Given the description of an element on the screen output the (x, y) to click on. 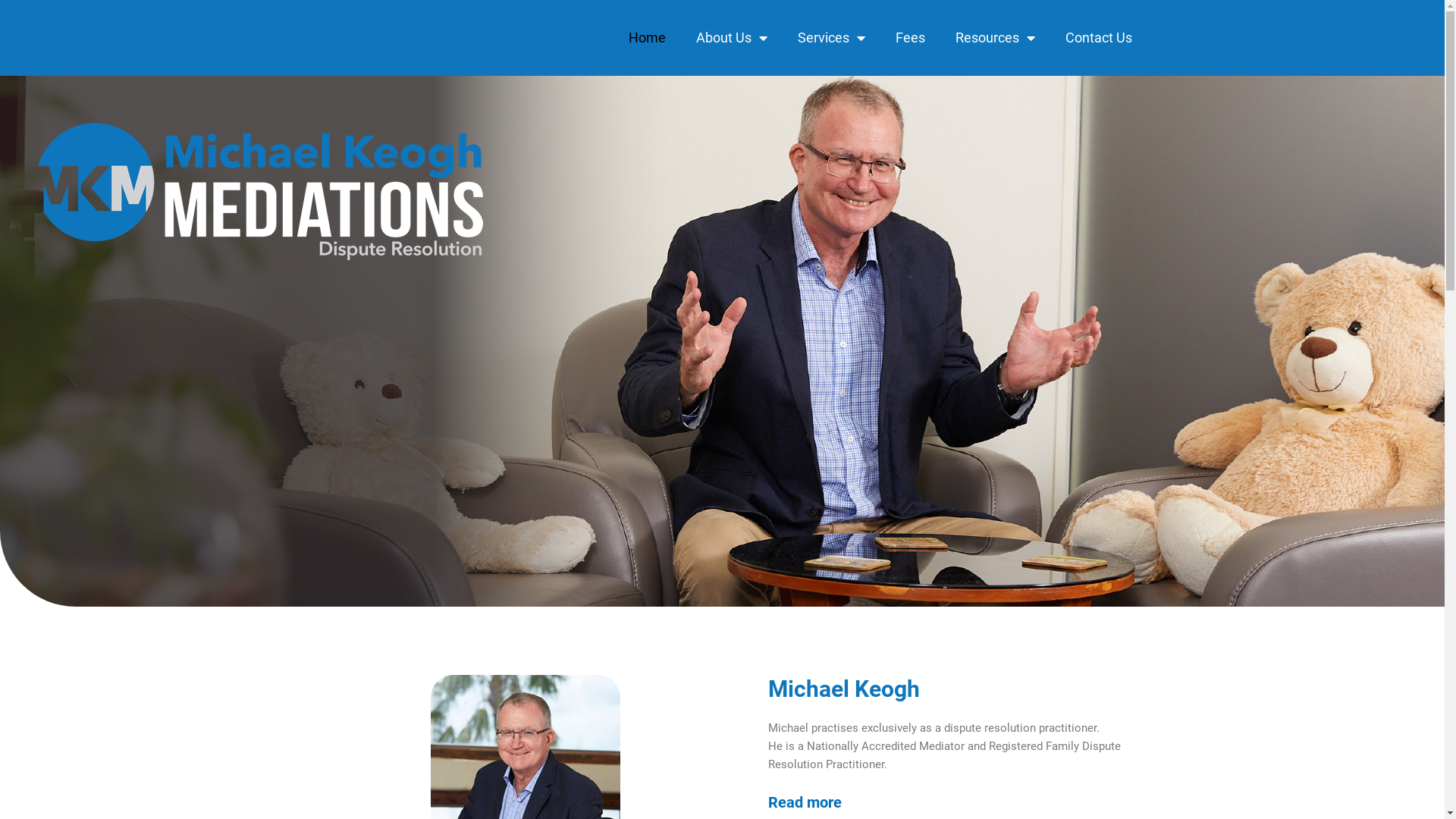
MKM_Logo_REV_wht_587px Element type: hover (260, 191)
Home Element type: text (646, 37)
Read more Element type: text (803, 802)
Services Element type: text (831, 37)
Resources Element type: text (995, 37)
About Us Element type: text (731, 37)
Fees Element type: text (909, 37)
Contact Us Element type: text (1097, 37)
